Given the description of an element on the screen output the (x, y) to click on. 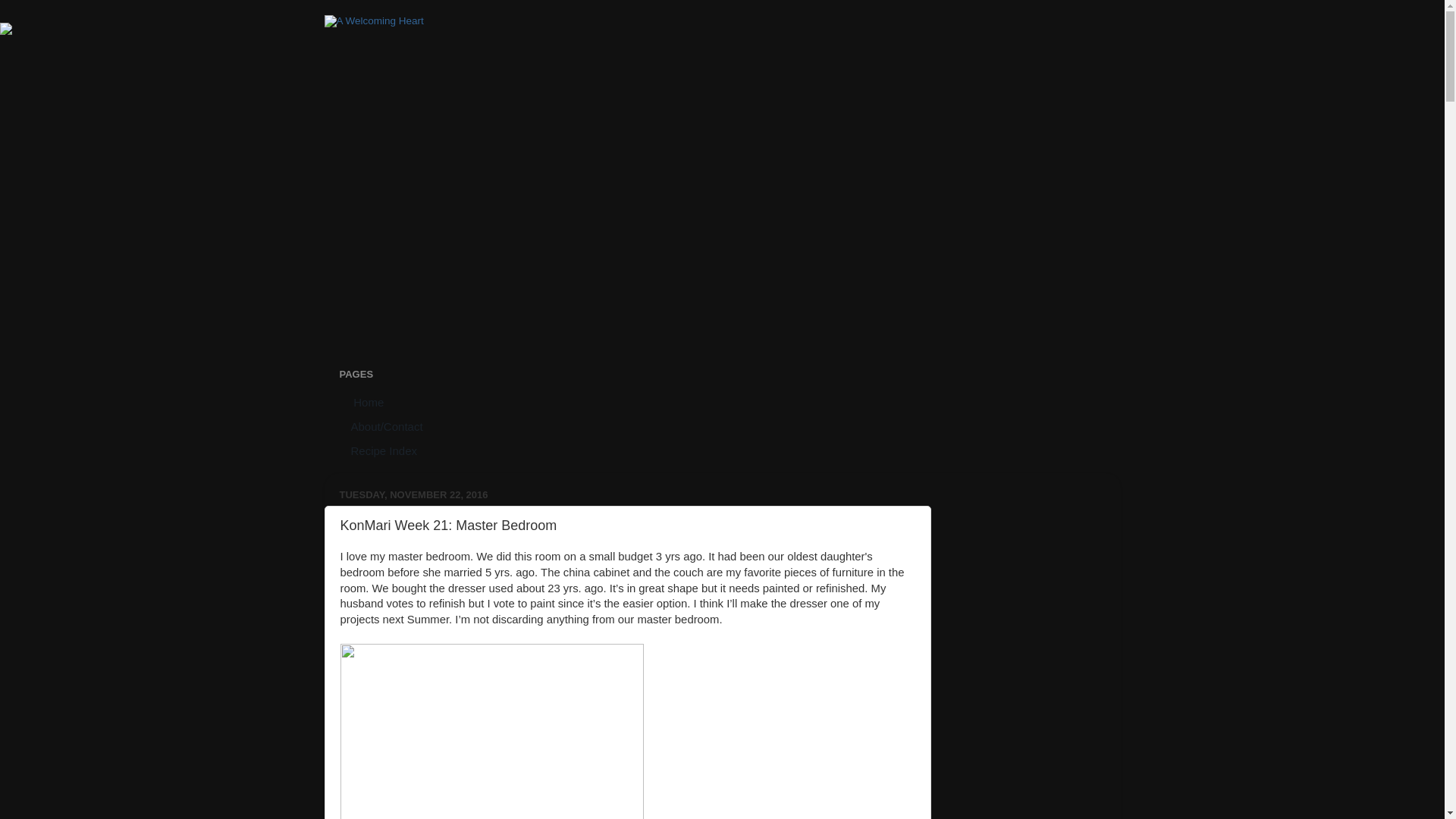
Home (367, 401)
Recipe Index (384, 450)
